Given the description of an element on the screen output the (x, y) to click on. 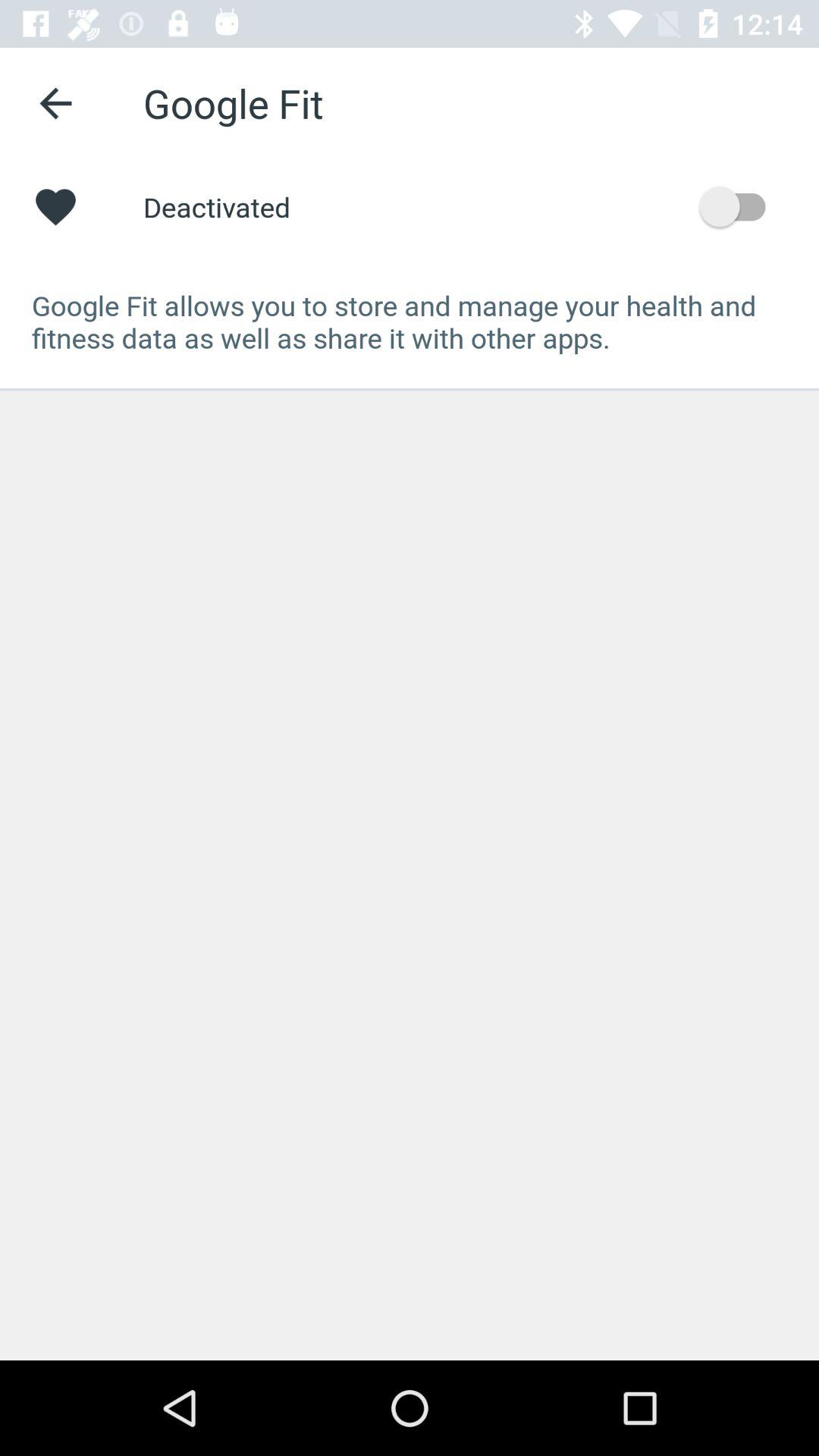
go back (55, 103)
